Given the description of an element on the screen output the (x, y) to click on. 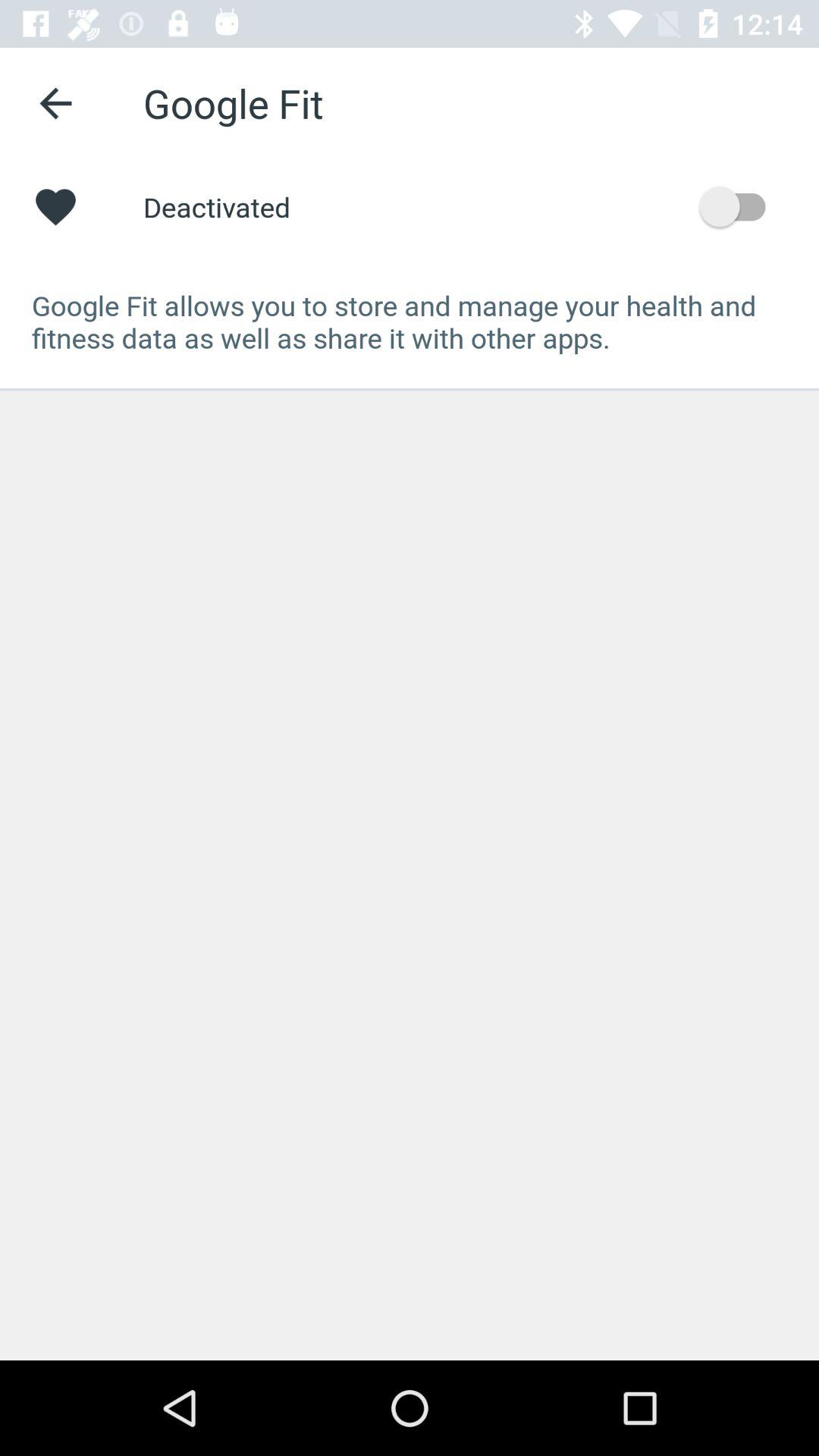
go back (55, 103)
